Given the description of an element on the screen output the (x, y) to click on. 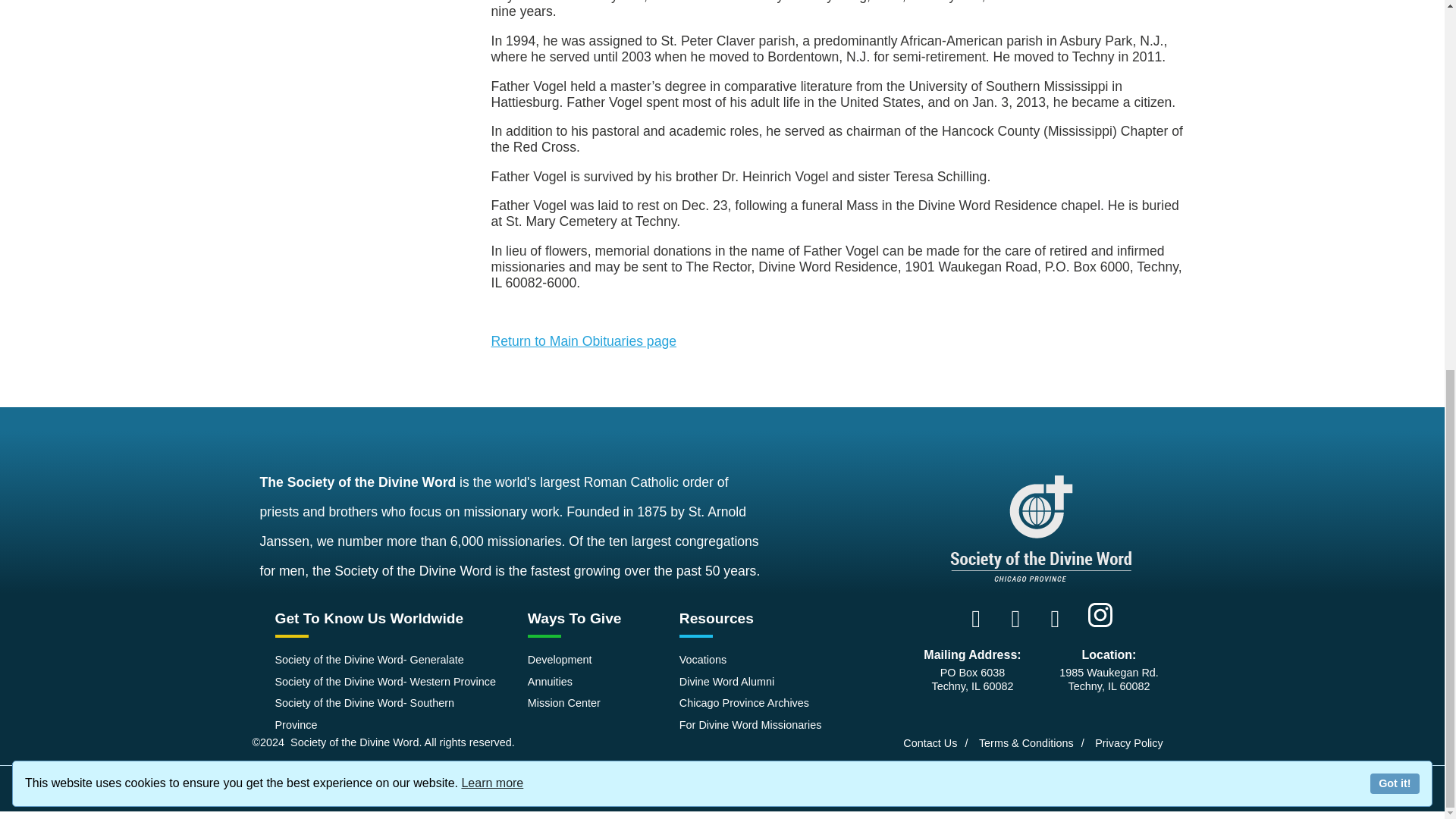
Learn more (491, 112)
Got it! (1394, 112)
instagram (1099, 614)
